Given the description of an element on the screen output the (x, y) to click on. 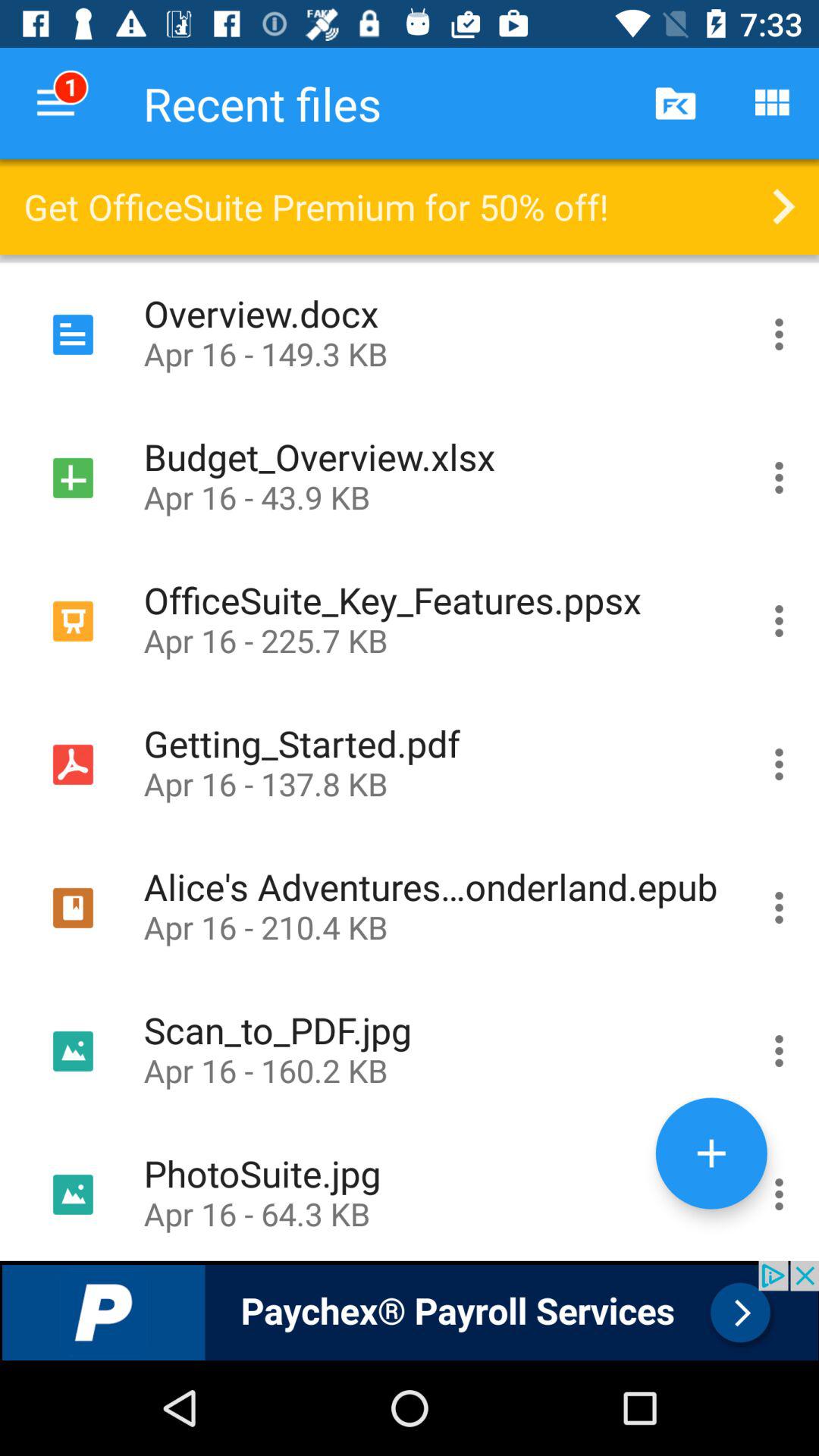
advertisement (409, 1310)
